Given the description of an element on the screen output the (x, y) to click on. 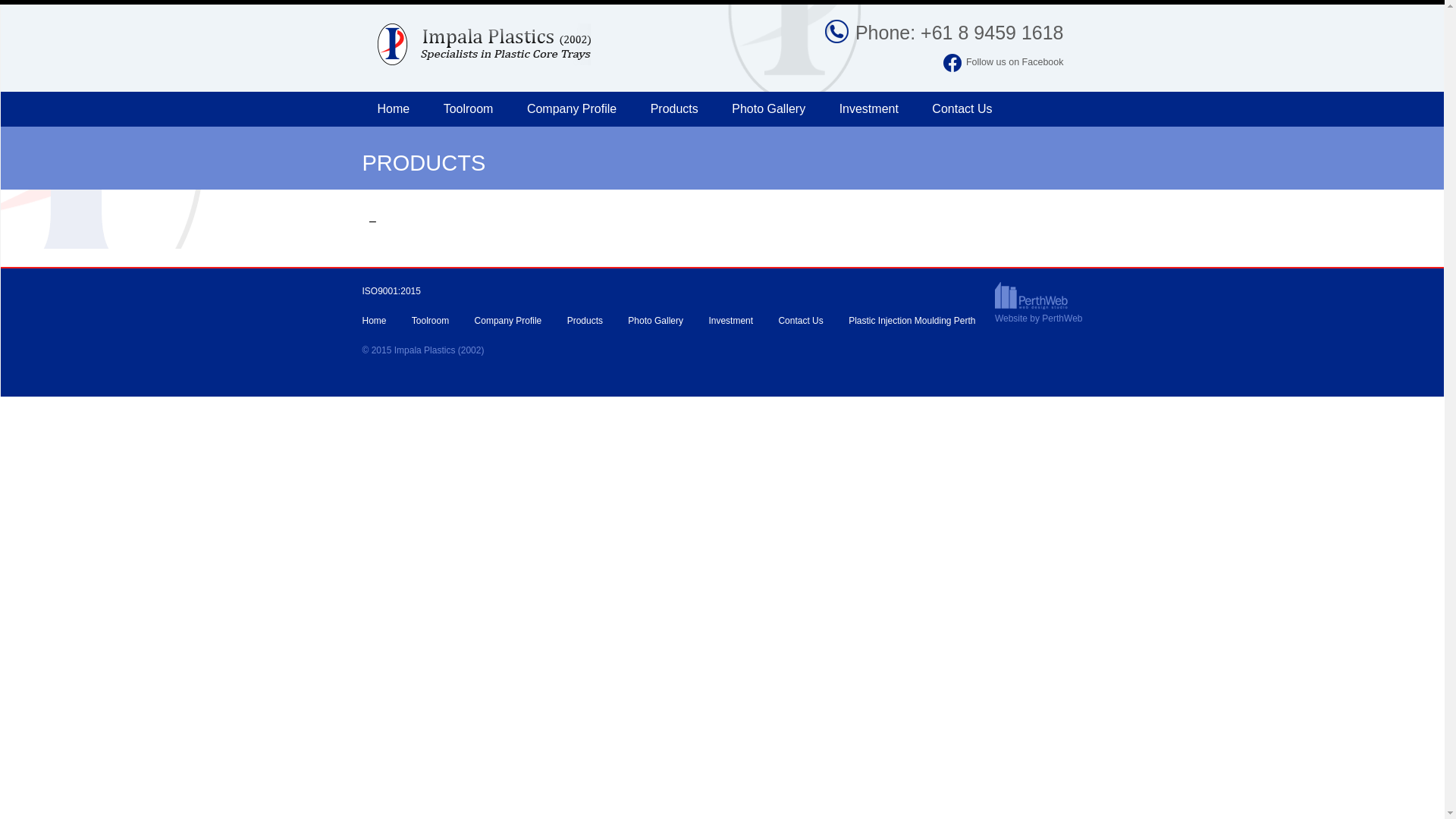
Products Element type: text (584, 320)
Impala 1 Core Tray Element type: text (711, 143)
Home Element type: text (393, 108)
Photo Gallery Element type: text (655, 320)
Skip to content Element type: text (360, 91)
Investment Element type: text (868, 108)
Products Element type: text (674, 108)
Phone: +61 8 9459 1618 Element type: text (944, 32)
Home Element type: text (374, 320)
Impala Plastics Element type: hover (524, 34)
Follow us on Facebook Element type: text (988, 62)
Contact Us Element type: text (800, 320)
Photo Gallery Element type: text (768, 108)
Contact Us Element type: text (961, 108)
Toolroom Element type: text (429, 320)
Plastic Injection Moulding Perth Element type: text (911, 320)
Company Profile Element type: text (508, 320)
Investment Element type: text (730, 320)
Toolroom Element type: text (468, 108)
Company Profile Element type: text (571, 108)
